Given the description of an element on the screen output the (x, y) to click on. 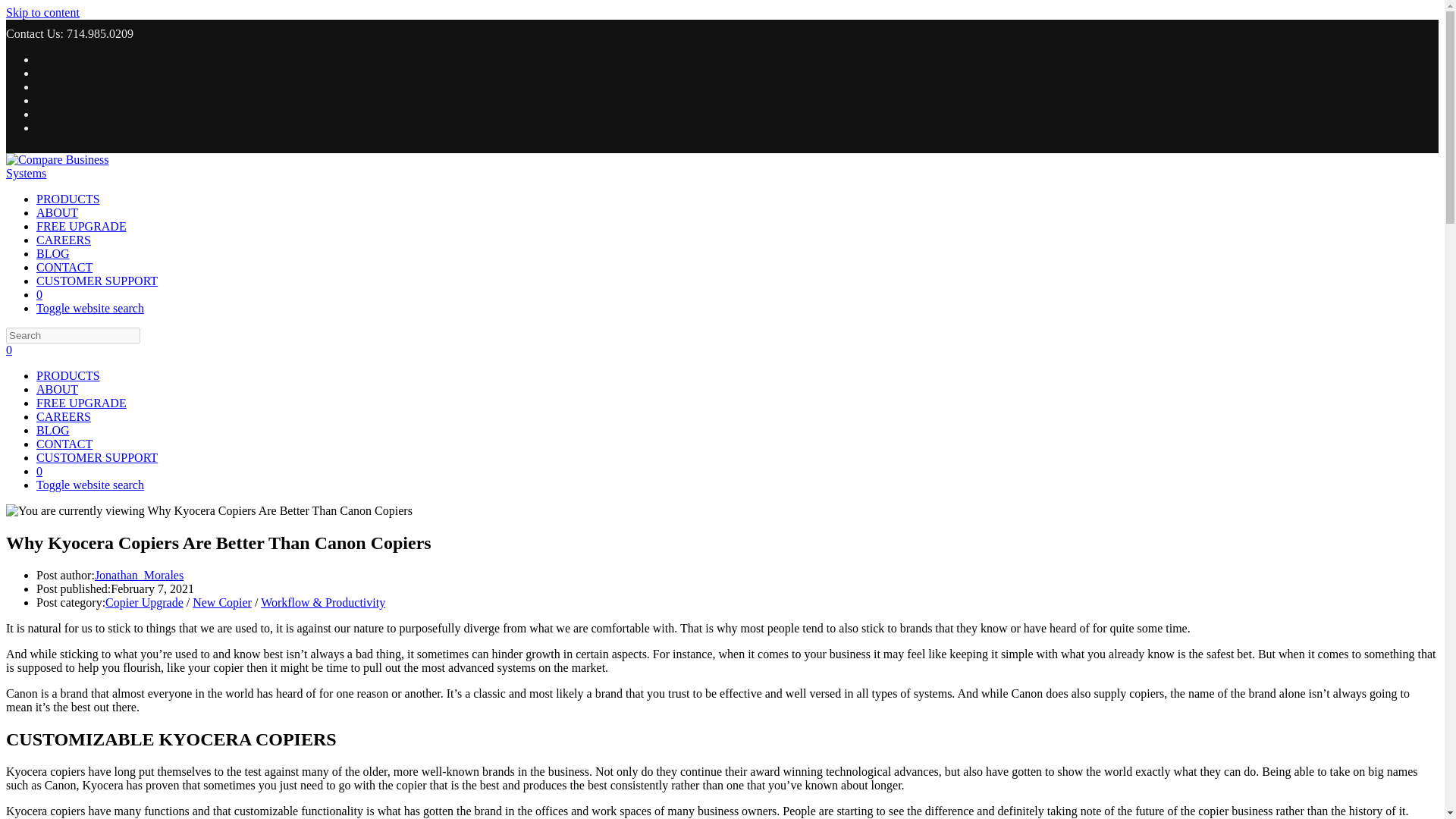
CAREERS (63, 239)
FREE UPGRADE (81, 226)
BLOG (52, 253)
FREE UPGRADE (81, 402)
ABOUT (57, 212)
Toggle website search (90, 484)
New Copier (221, 602)
ABOUT (57, 389)
CAREERS (63, 416)
CUSTOMER SUPPORT (96, 457)
PRODUCTS (68, 198)
CONTACT (64, 443)
CUSTOMER SUPPORT (96, 280)
CONTACT (64, 267)
Toggle website search (90, 308)
